Given the description of an element on the screen output the (x, y) to click on. 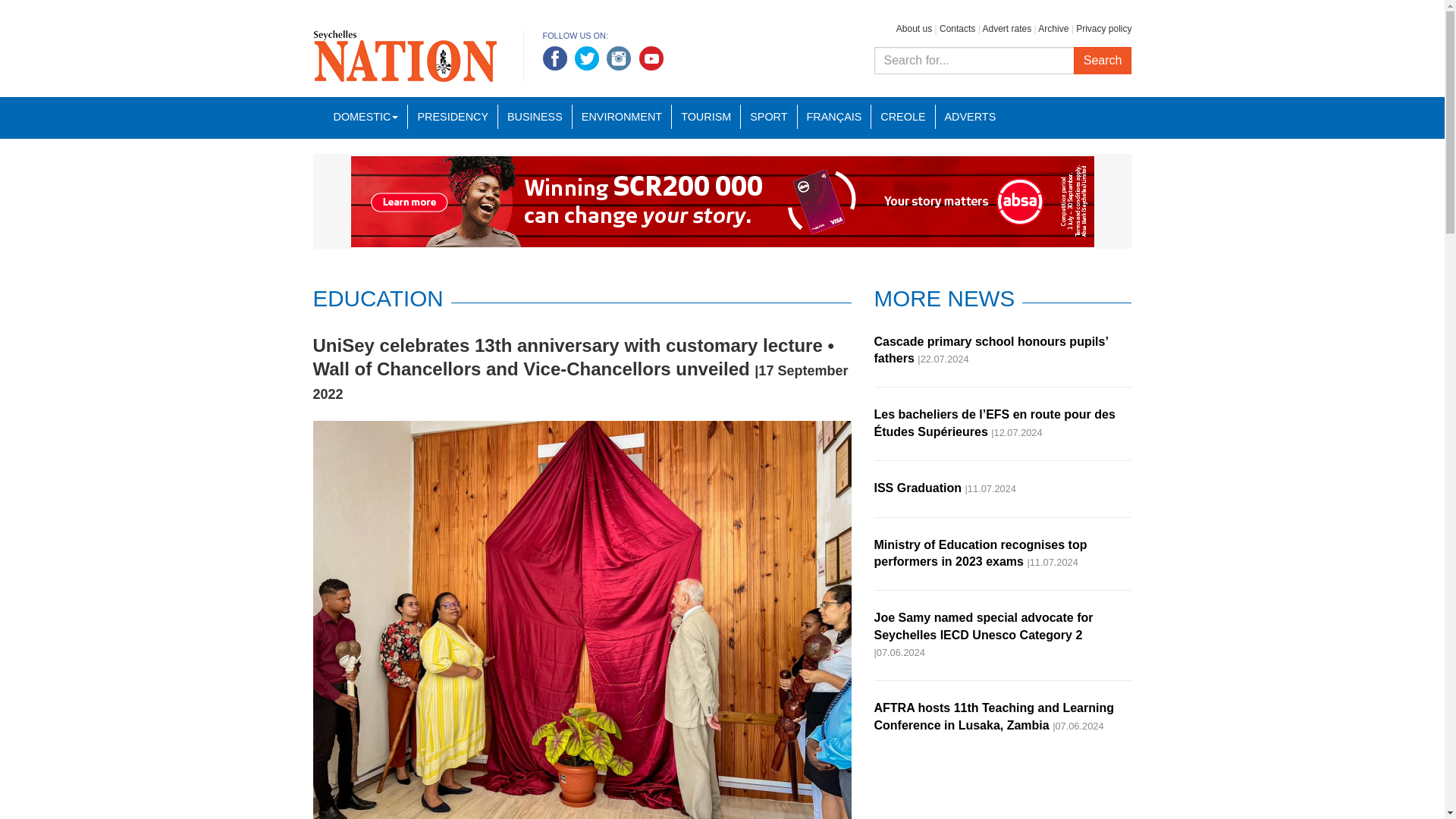
TOURISM (705, 116)
ISS Graduation (916, 487)
BUSINESS (534, 116)
Search (1103, 60)
SPORT (767, 116)
Privacy policy (1103, 28)
DOMESTIC (365, 116)
ADVERTS (970, 116)
Contacts (957, 28)
ENVIRONMENT (621, 116)
Advert rates (1005, 28)
About us (913, 28)
PRESIDENCY (452, 116)
